Given the description of an element on the screen output the (x, y) to click on. 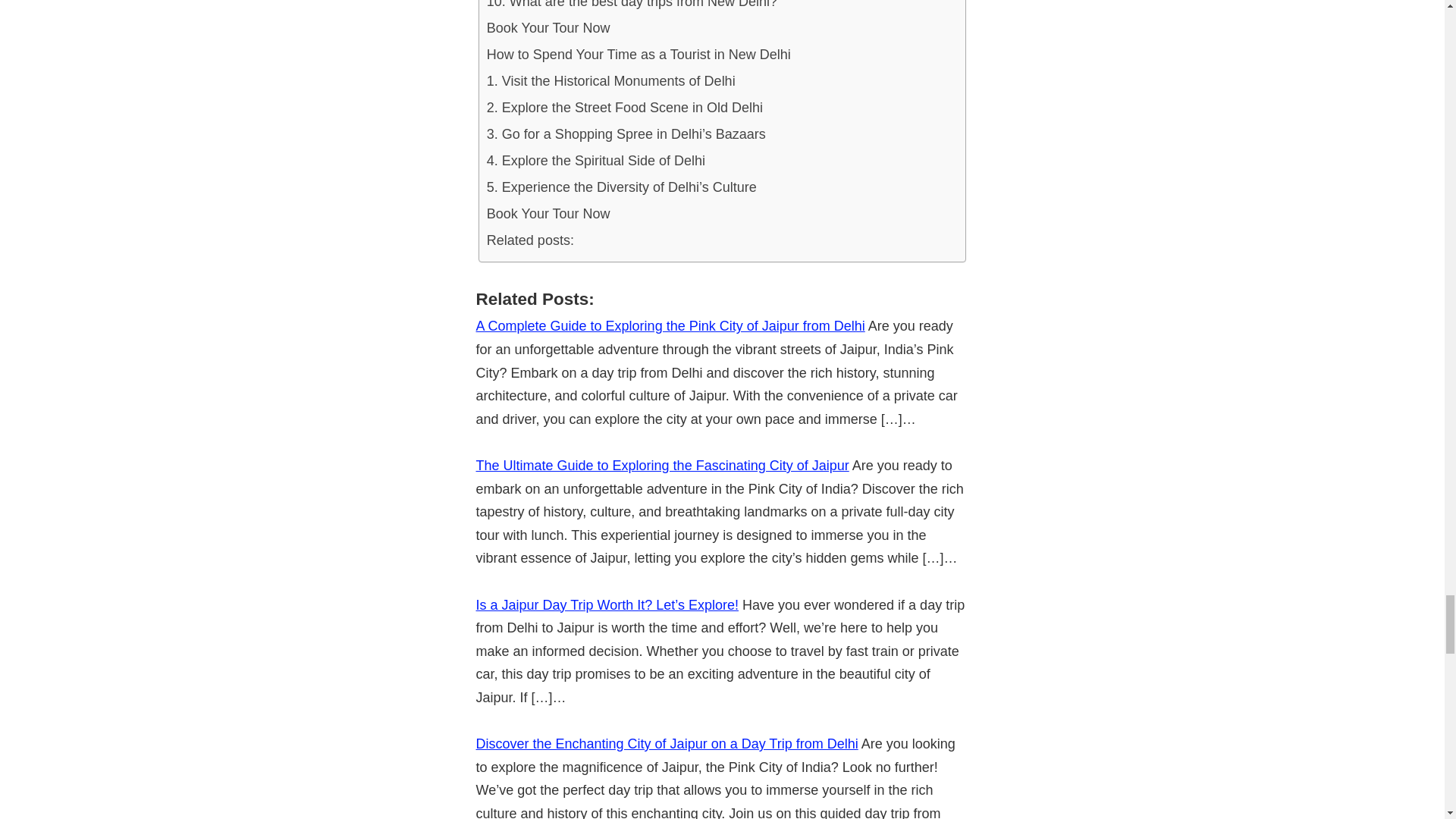
1. Visit the Historical Monuments of Delhi (610, 81)
2. Explore the Street Food Scene in Old Delhi (624, 108)
Book Your Tour Now (548, 213)
4. Explore the Spiritual Side of Delhi (595, 161)
Book Your Tour Now (548, 28)
How to Spend Your Time as a Tourist in New Delhi (638, 54)
Related posts: (529, 240)
10. What are the best day trips from New Delhi? (631, 7)
